Given the description of an element on the screen output the (x, y) to click on. 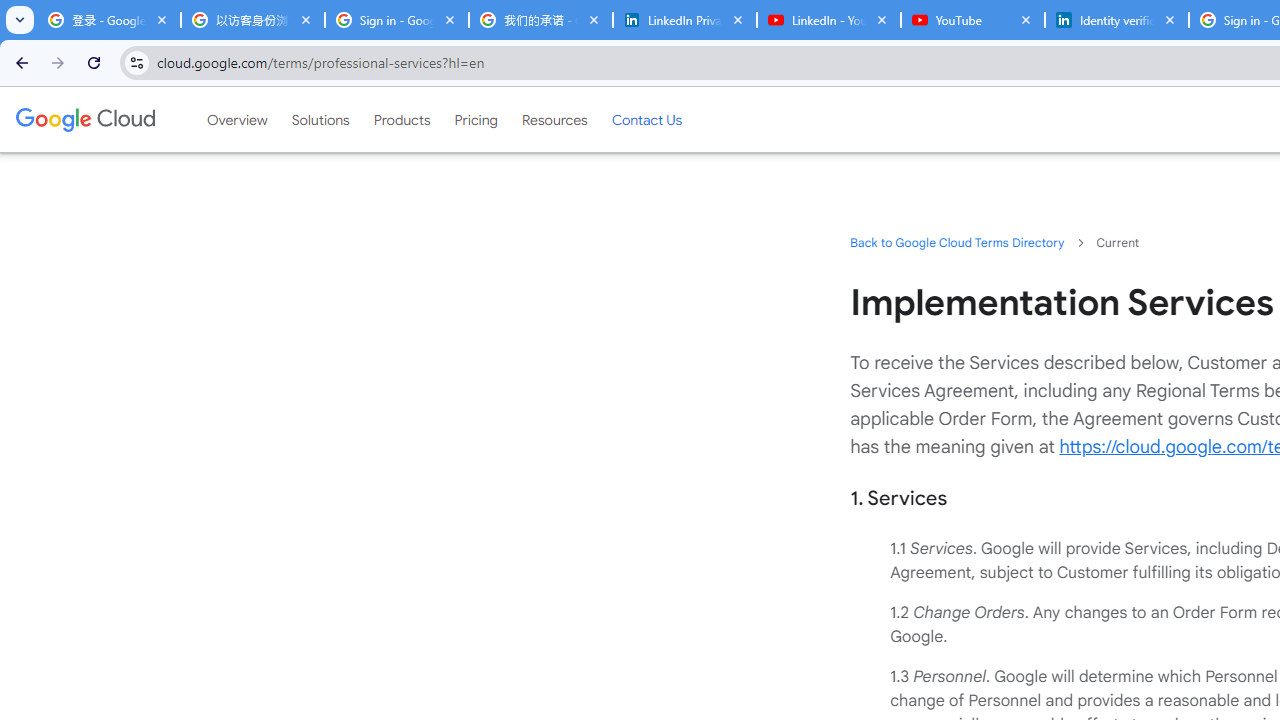
Contact Us (646, 119)
Products (401, 119)
Resources (553, 119)
YouTube (972, 20)
